Given the description of an element on the screen output the (x, y) to click on. 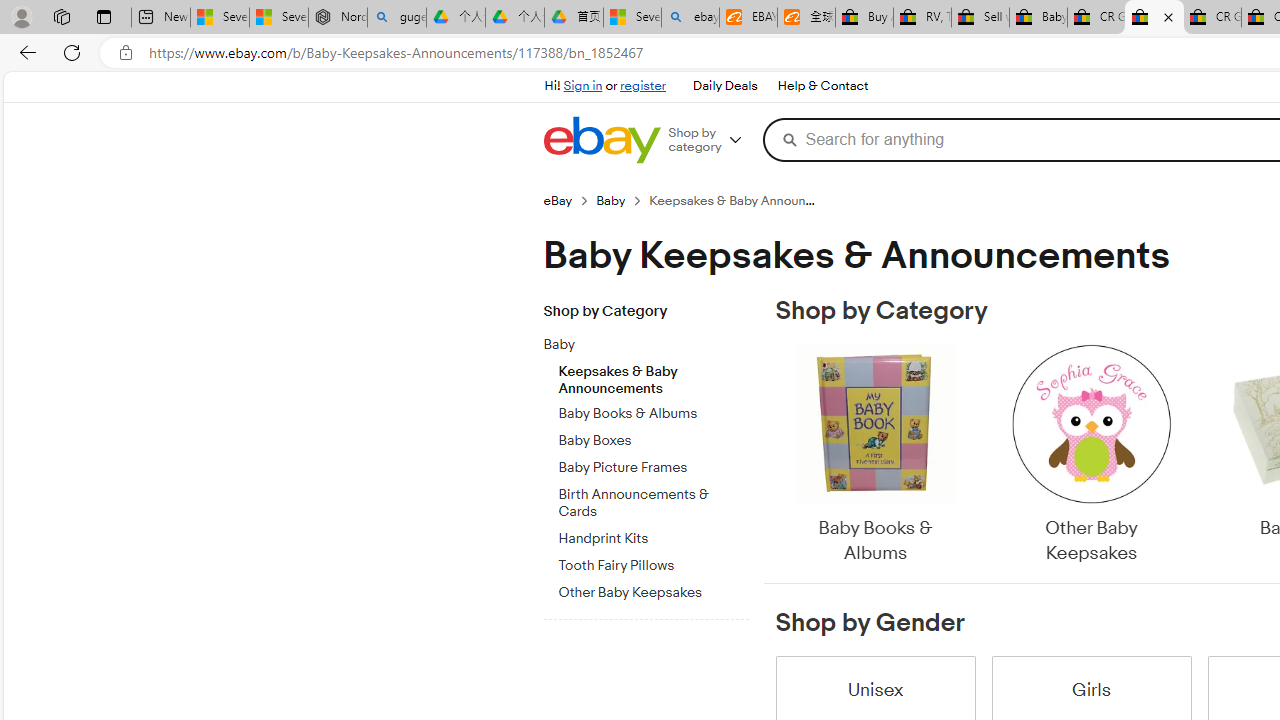
Baby (653, 341)
Other Baby Keepsakes (1090, 455)
Tab actions menu (104, 16)
Baby Books & Albums (874, 455)
Handprint Kits (653, 538)
Tooth Fairy Pillows (653, 566)
Baby Boxes (653, 437)
Baby Books & Albums (874, 455)
Baby Keepsakes & Announcements for sale | eBay (1154, 17)
Keepsakes & Baby Announcements (653, 375)
Go to previous slide (775, 455)
Baby (637, 345)
eBay Home (601, 139)
